Given the description of an element on the screen output the (x, y) to click on. 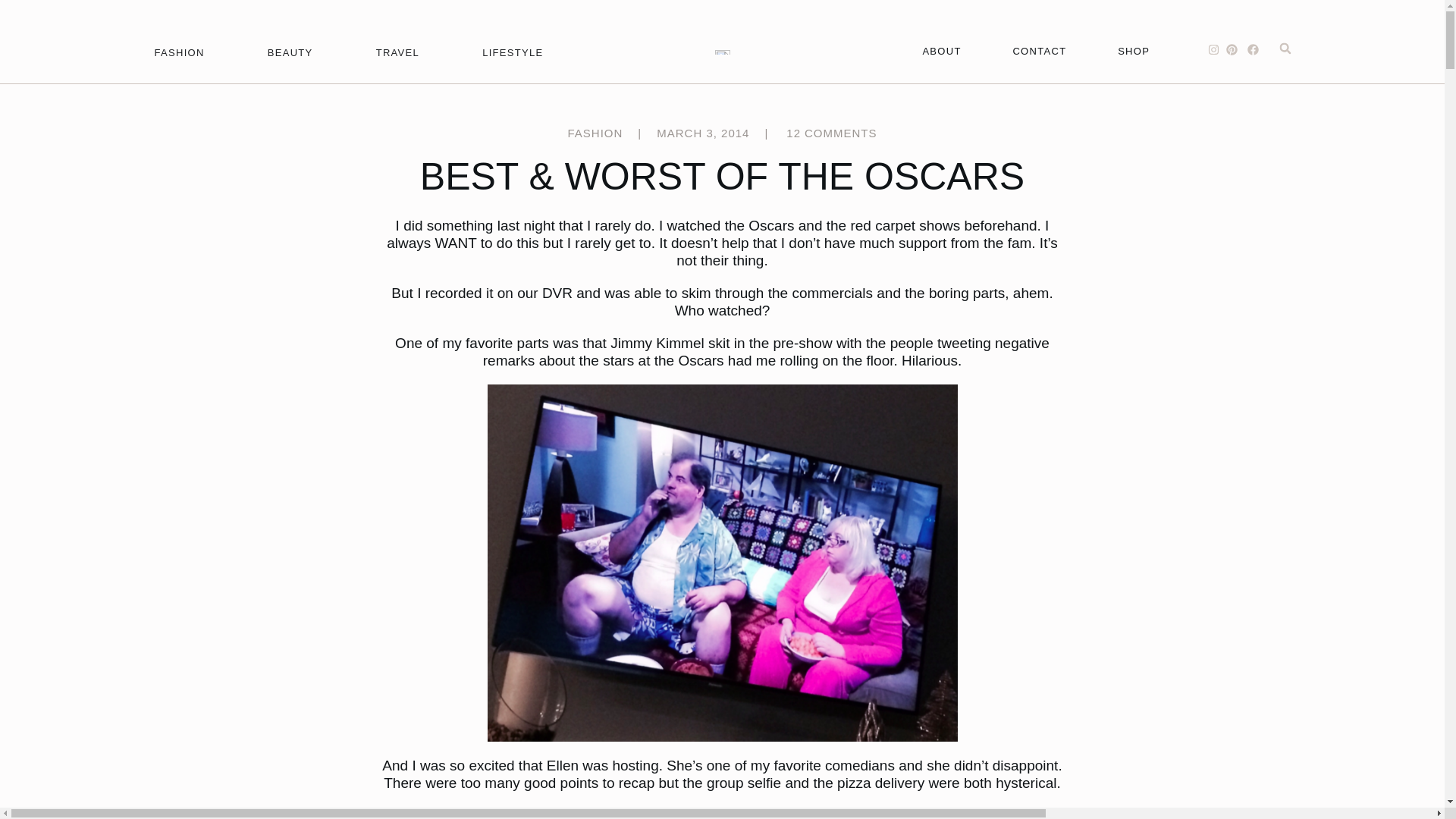
FASHION (179, 52)
BEAUTY (290, 52)
